Given the description of an element on the screen output the (x, y) to click on. 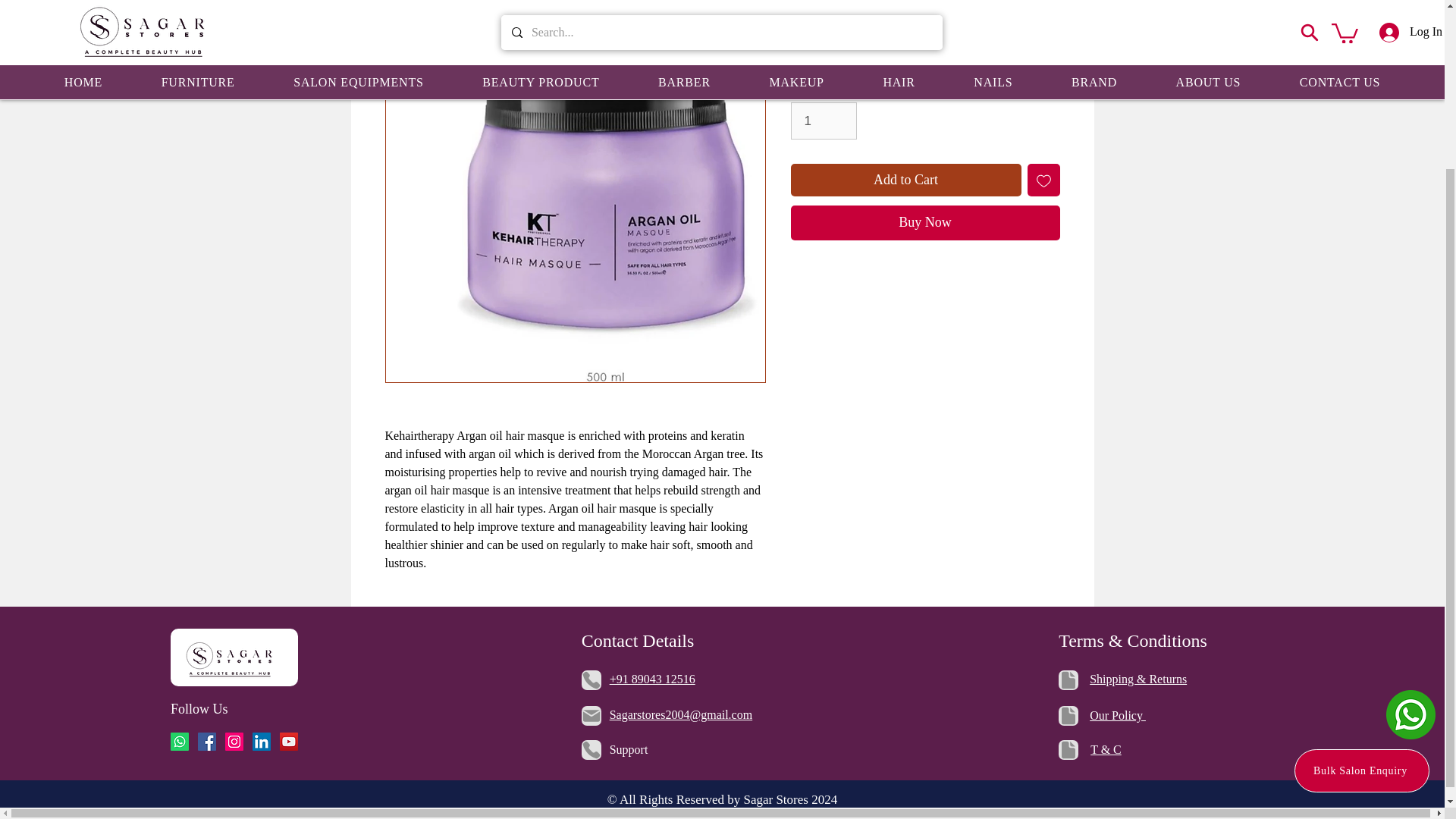
Sagar stores logo (229, 656)
1 (823, 120)
